Given the description of an element on the screen output the (x, y) to click on. 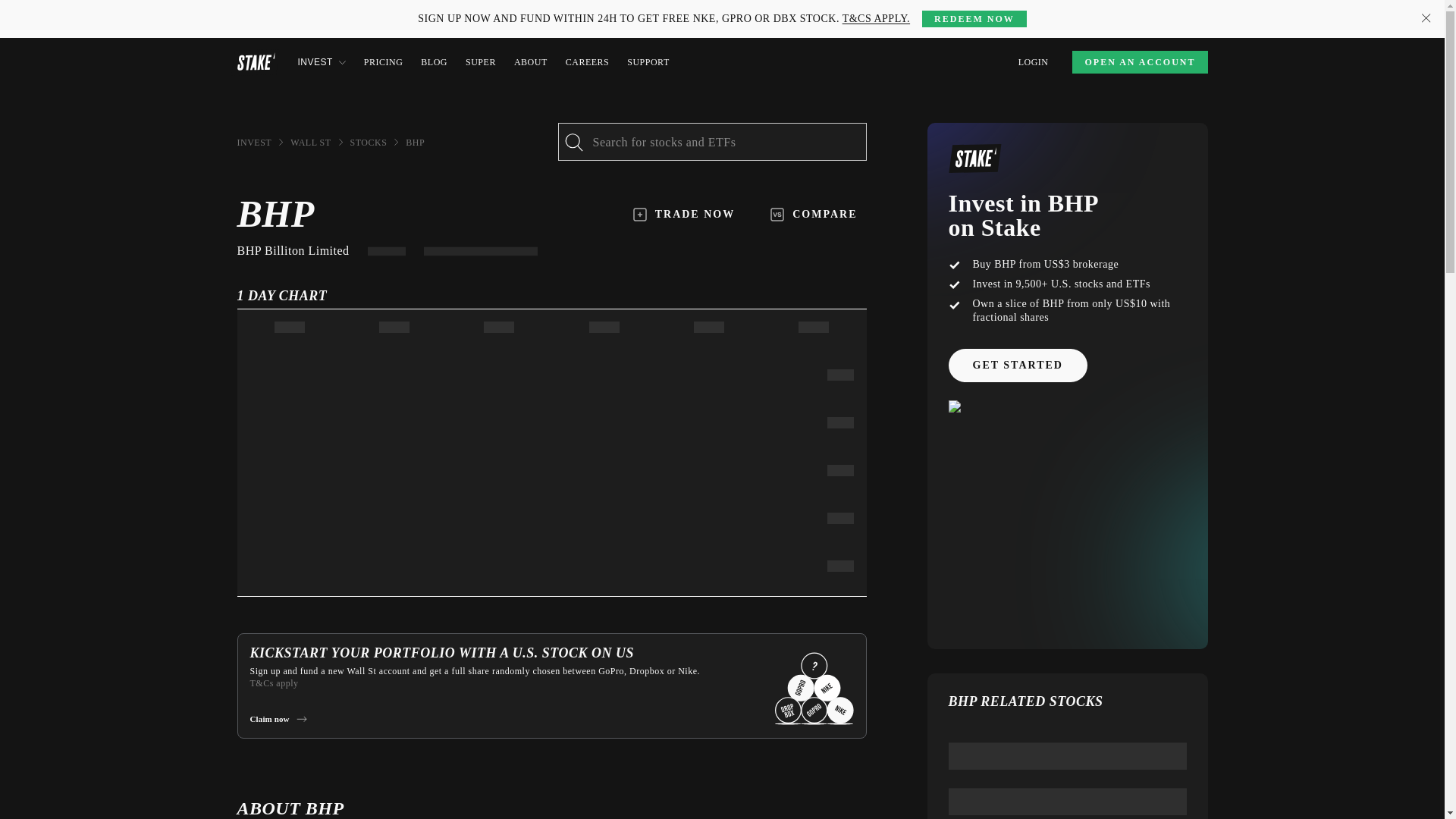
WALL ST (309, 142)
OPEN AN ACCOUNT (1139, 61)
STOCKS (368, 142)
ABOUT (530, 61)
INVEST (252, 142)
SUPPORT (647, 61)
Learn more (341, 9)
GET STARTED (1016, 365)
BLOG (433, 61)
LOGIN (1032, 61)
CAREERS (588, 61)
INVEST (321, 61)
COMPARE (813, 213)
TRADE NOW (684, 213)
SUPER (480, 61)
